Given the description of an element on the screen output the (x, y) to click on. 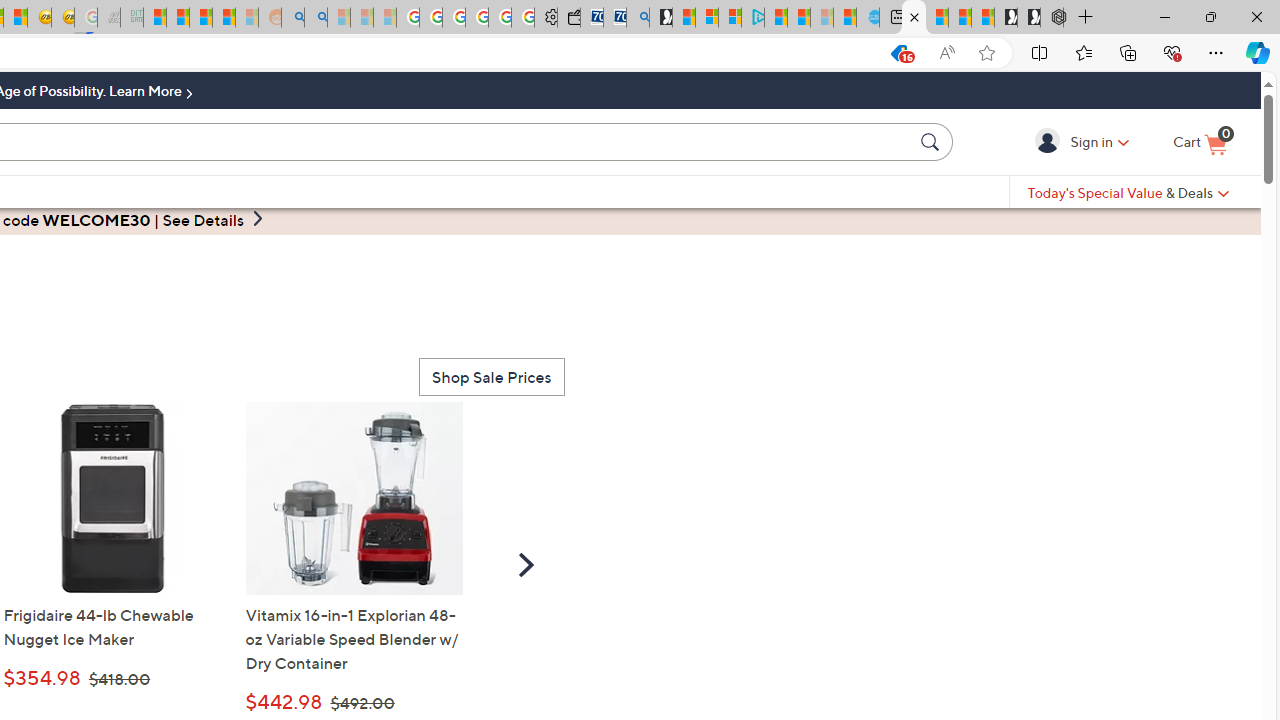
 Frigidaire 44-lb Chewable Nugget Ice Maker - K86274 (111, 498)
Utah sues federal government - Search (315, 17)
Play Free Online Games | Games from Microsoft Start (1028, 17)
